Given the description of an element on the screen output the (x, y) to click on. 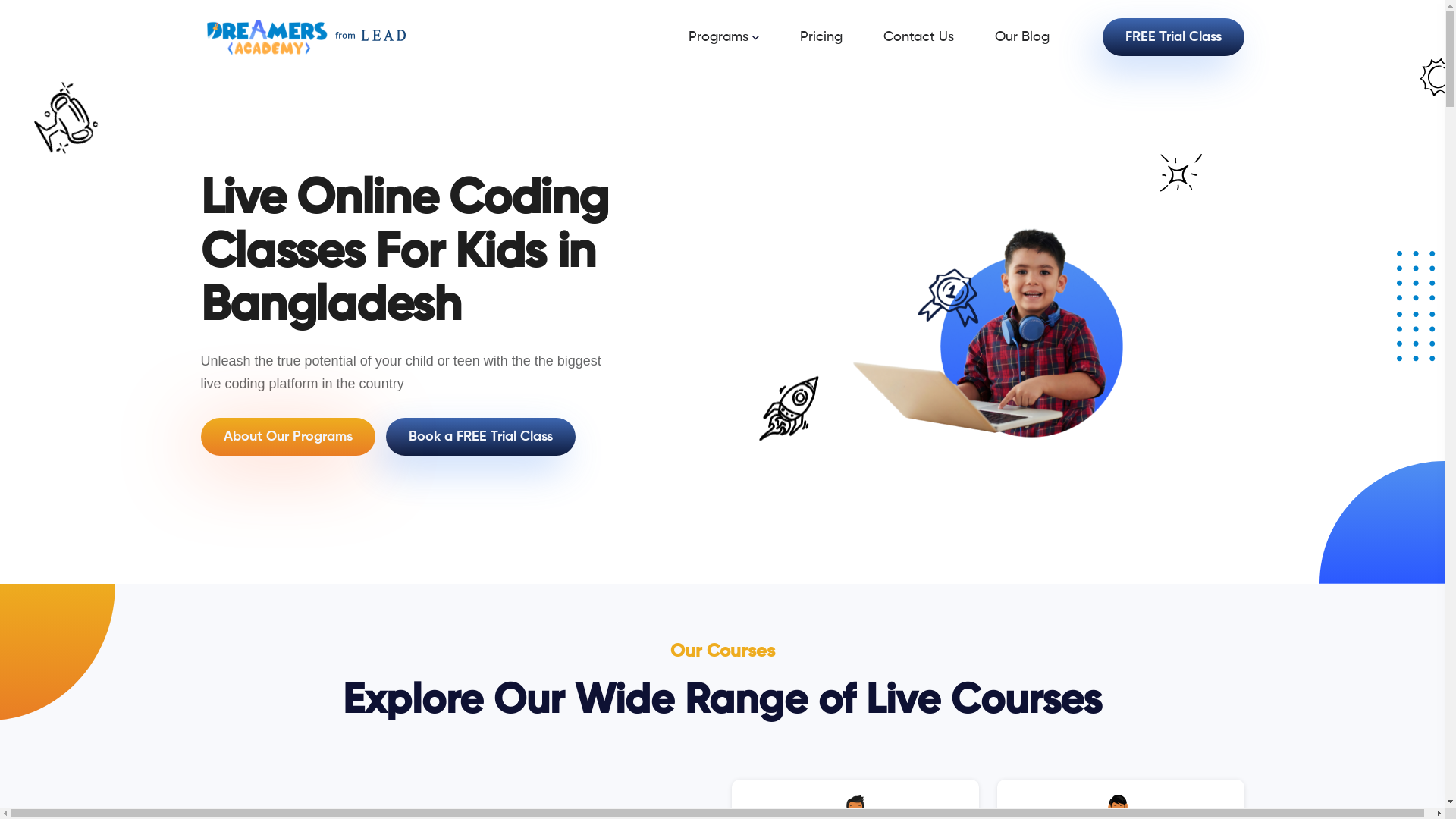
Contact Us Element type: text (936, 37)
Pricing Element type: text (839, 37)
Programs Element type: text (742, 37)
FREE Trial Class Element type: text (1173, 37)
Our Blog Element type: text (1040, 37)
About Our Programs Element type: text (287, 436)
Book a FREE Trial Class Element type: text (479, 436)
